Given the description of an element on the screen output the (x, y) to click on. 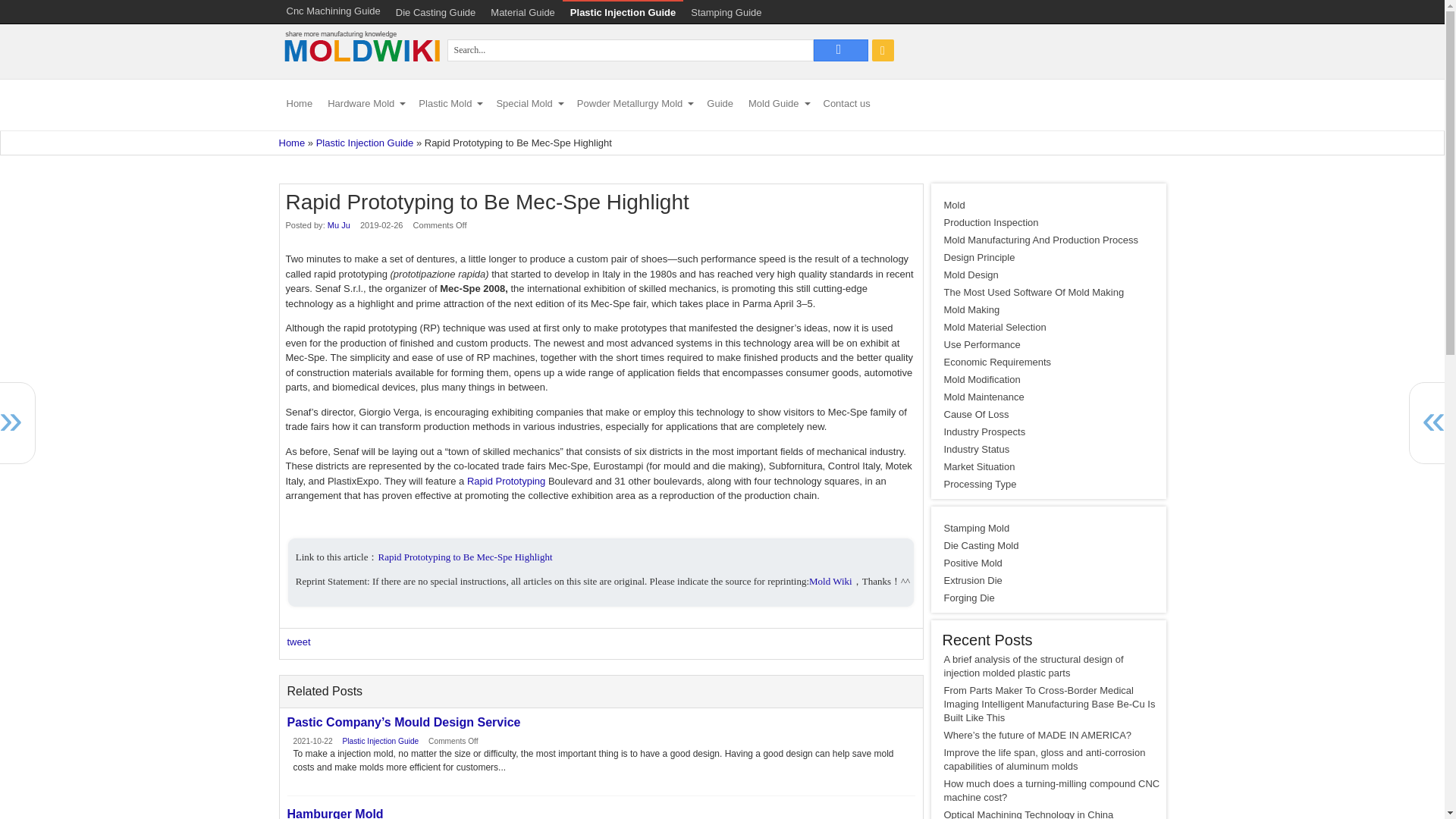
Search... (839, 50)
View all post by (338, 225)
Plastic Injection Guide (622, 11)
Mold Guide (778, 104)
Mold Wiki (361, 69)
Plastic Injection Guide (364, 142)
Home (292, 142)
Mu Ju (338, 225)
Cnc Machining Guide (333, 11)
Plastic Mold (448, 104)
Search... (629, 50)
Special Mold (528, 104)
Hamburger Mold (600, 813)
Powder Metallurgy Mold (633, 104)
Rapid Prototyping (505, 480)
